Given the description of an element on the screen output the (x, y) to click on. 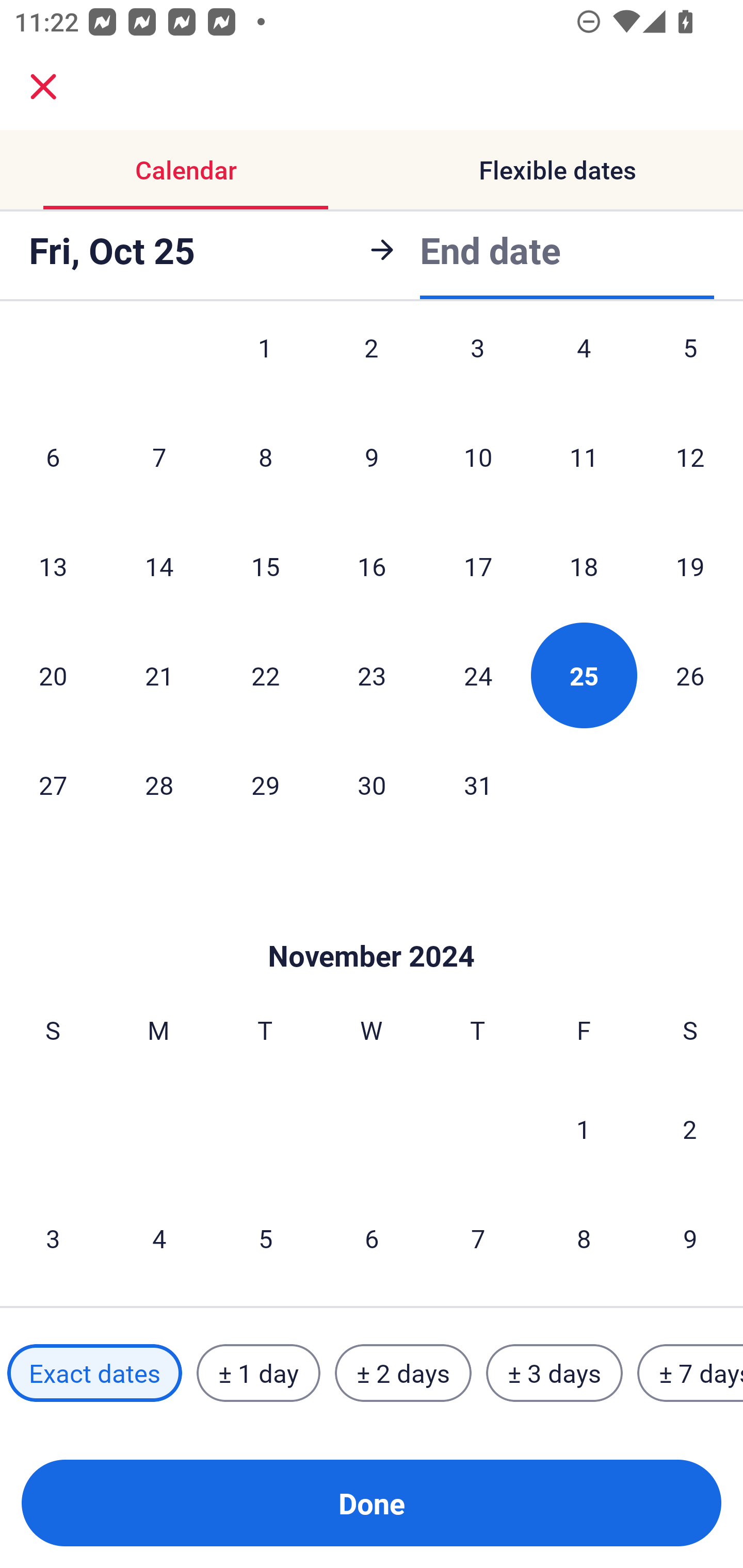
close. (43, 86)
Flexible dates (557, 170)
End date (489, 249)
1 Tuesday, October 1, 2024 (264, 364)
2 Wednesday, October 2, 2024 (371, 364)
3 Thursday, October 3, 2024 (477, 364)
4 Friday, October 4, 2024 (584, 364)
5 Saturday, October 5, 2024 (690, 364)
6 Sunday, October 6, 2024 (53, 456)
7 Monday, October 7, 2024 (159, 456)
8 Tuesday, October 8, 2024 (265, 456)
9 Wednesday, October 9, 2024 (371, 456)
10 Thursday, October 10, 2024 (477, 456)
11 Friday, October 11, 2024 (584, 456)
12 Saturday, October 12, 2024 (690, 456)
13 Sunday, October 13, 2024 (53, 565)
14 Monday, October 14, 2024 (159, 565)
15 Tuesday, October 15, 2024 (265, 565)
16 Wednesday, October 16, 2024 (371, 565)
17 Thursday, October 17, 2024 (477, 565)
18 Friday, October 18, 2024 (584, 565)
19 Saturday, October 19, 2024 (690, 565)
20 Sunday, October 20, 2024 (53, 674)
21 Monday, October 21, 2024 (159, 674)
22 Tuesday, October 22, 2024 (265, 674)
23 Wednesday, October 23, 2024 (371, 674)
24 Thursday, October 24, 2024 (477, 674)
26 Saturday, October 26, 2024 (690, 674)
27 Sunday, October 27, 2024 (53, 784)
28 Monday, October 28, 2024 (159, 784)
29 Tuesday, October 29, 2024 (265, 784)
30 Wednesday, October 30, 2024 (371, 784)
31 Thursday, October 31, 2024 (477, 784)
Skip to Done (371, 925)
1 Friday, November 1, 2024 (583, 1128)
2 Saturday, November 2, 2024 (689, 1128)
3 Sunday, November 3, 2024 (53, 1237)
4 Monday, November 4, 2024 (159, 1237)
5 Tuesday, November 5, 2024 (265, 1237)
6 Wednesday, November 6, 2024 (371, 1237)
7 Thursday, November 7, 2024 (477, 1237)
8 Friday, November 8, 2024 (584, 1237)
9 Saturday, November 9, 2024 (690, 1237)
Exact dates (94, 1372)
± 1 day (258, 1372)
± 2 days (403, 1372)
± 3 days (553, 1372)
± 7 days (690, 1372)
Done (371, 1502)
